Given the description of an element on the screen output the (x, y) to click on. 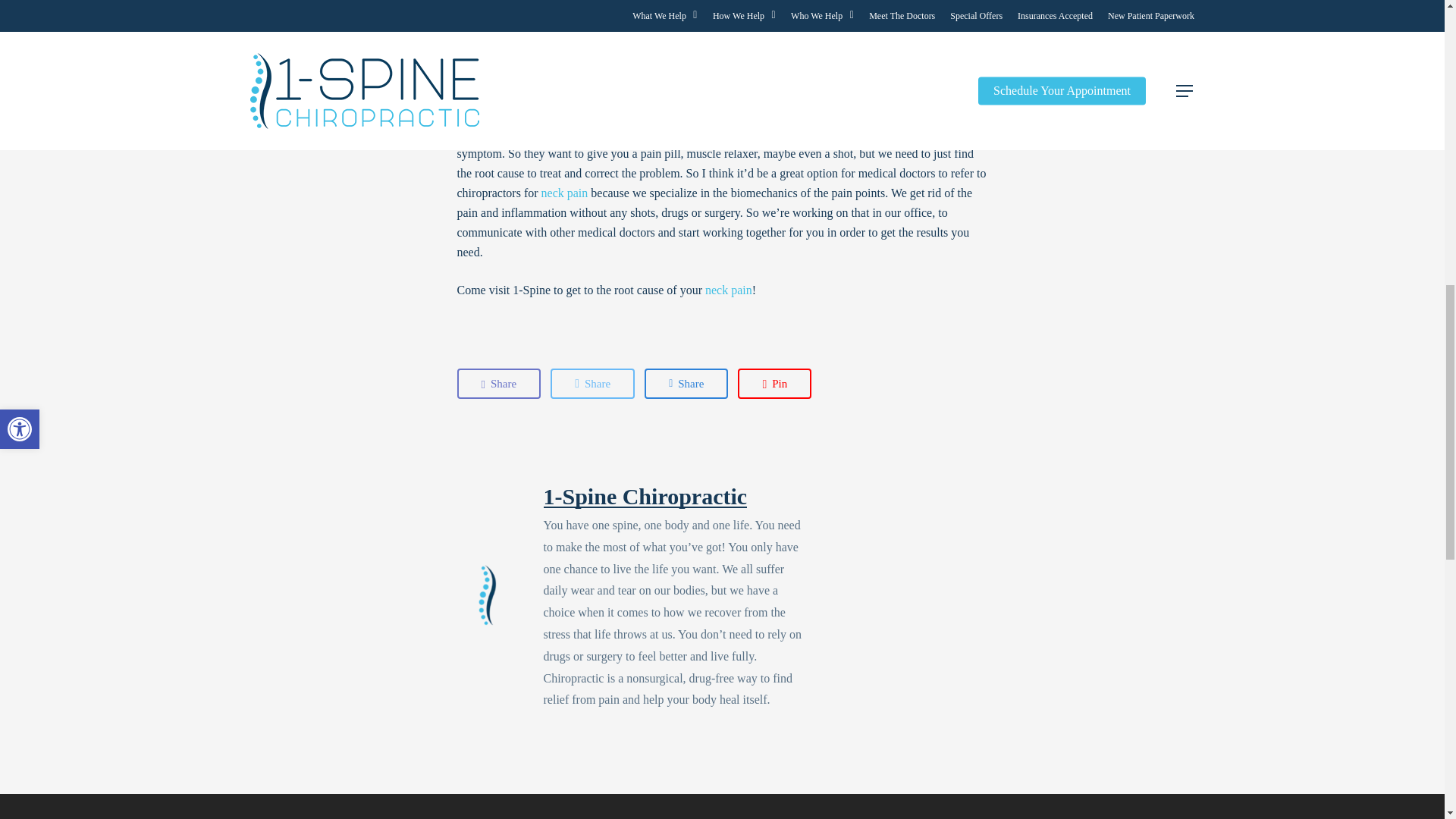
Home (866, 51)
Neck Pain (564, 192)
Share this (592, 383)
Share this (686, 383)
Pin this (774, 383)
Share this (498, 383)
